Given the description of an element on the screen output the (x, y) to click on. 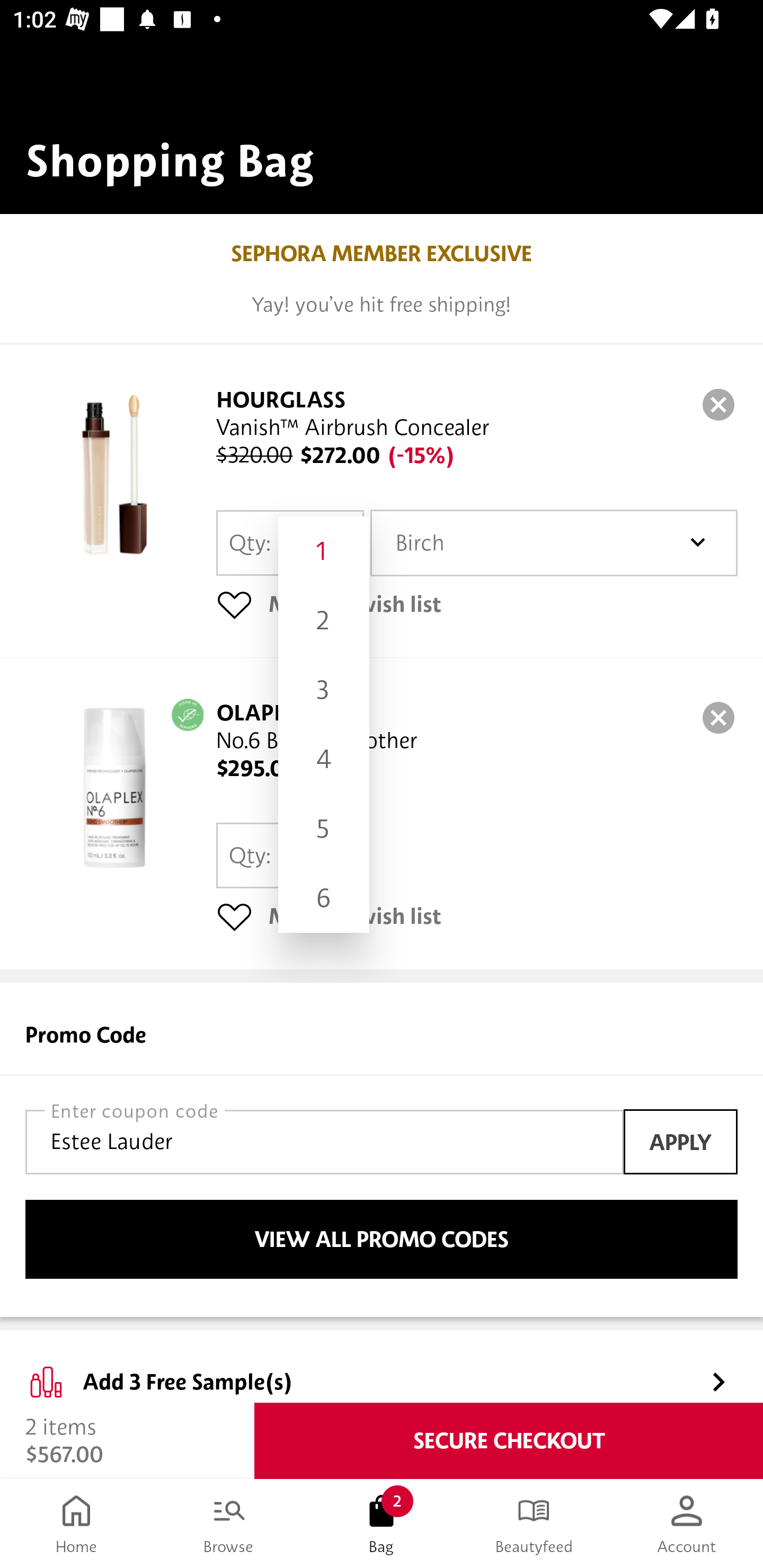
1 (323, 550)
2 (323, 620)
3 (323, 689)
4 (323, 758)
5 (323, 828)
6 (323, 897)
